Given the description of an element on the screen output the (x, y) to click on. 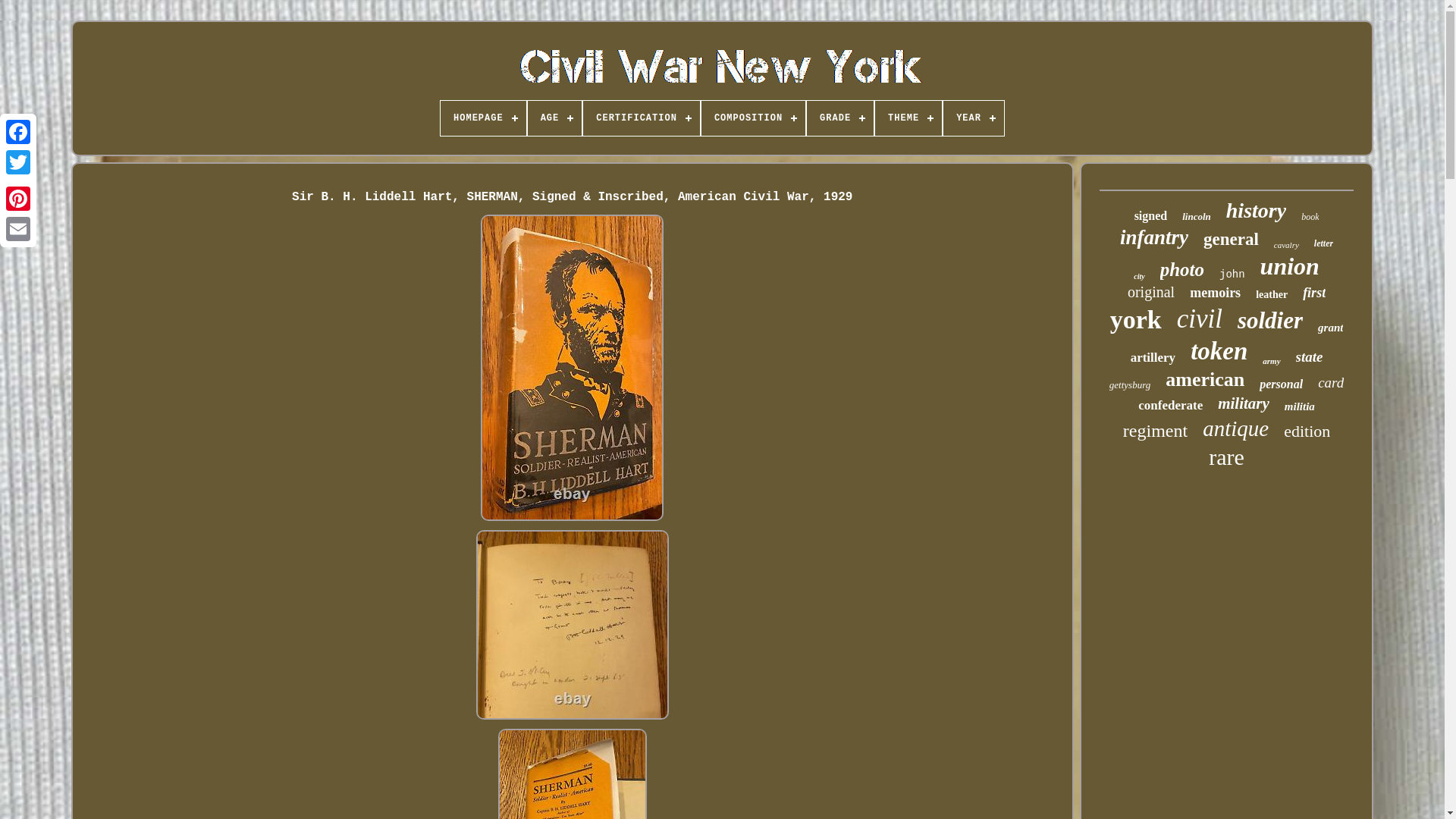
Pinterest (17, 198)
COMPOSITION (753, 117)
Facebook (17, 132)
AGE (554, 117)
HOMEPAGE (483, 117)
CERTIFICATION (641, 117)
GRADE (839, 117)
